Given the description of an element on the screen output the (x, y) to click on. 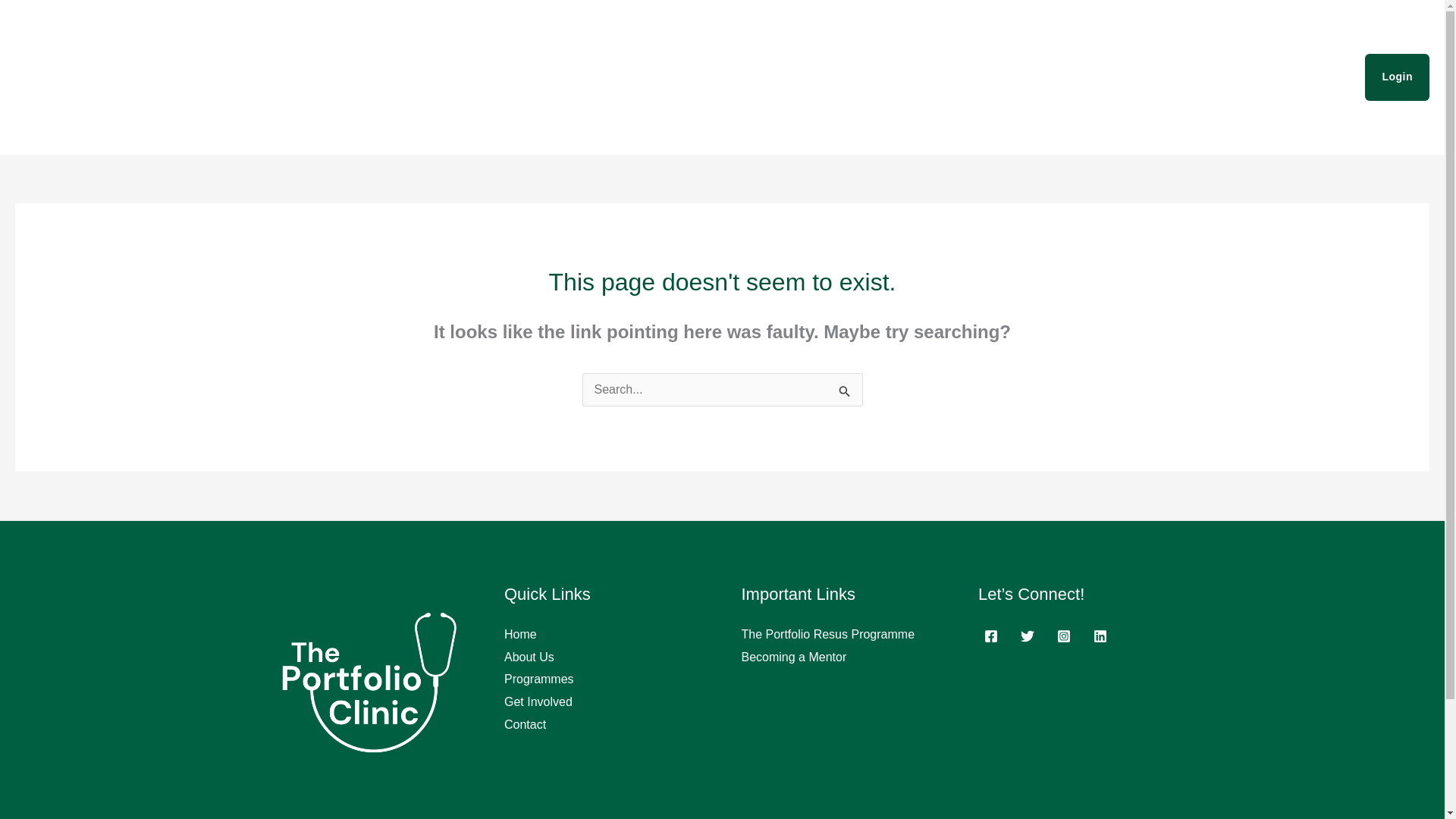
Programmes (1144, 77)
About Us (1060, 77)
Becoming a Mentor (794, 656)
The Portfolio Resus Programme (828, 634)
Contact (524, 724)
Search (844, 392)
Get Involved (1237, 77)
Search (844, 392)
About Us (528, 656)
Home (994, 77)
Login (1397, 77)
Home (520, 634)
Search (844, 392)
Contact (1316, 77)
Get Involved (537, 701)
